Given the description of an element on the screen output the (x, y) to click on. 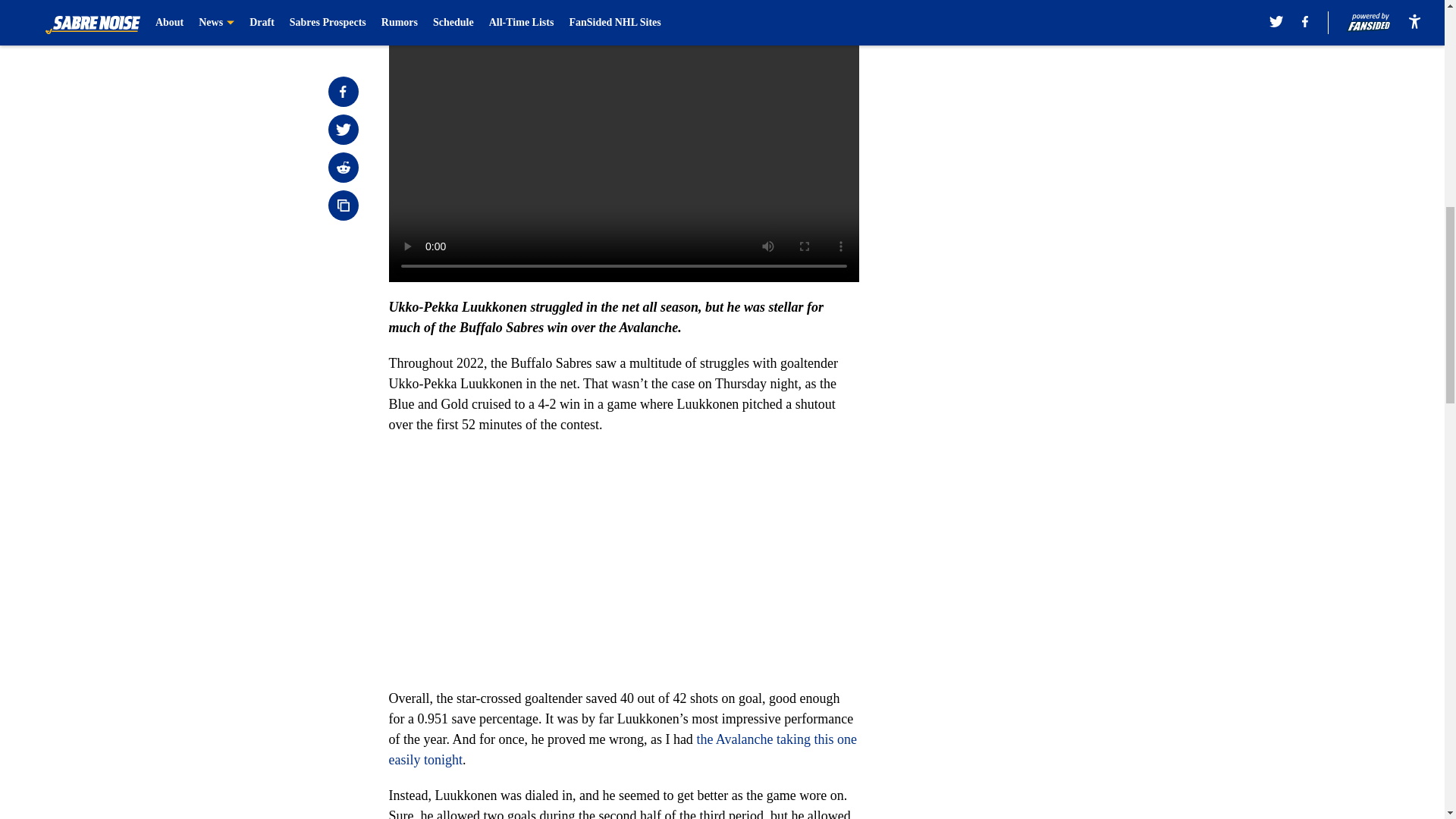
the Avalanche taking this one easily tonight (622, 749)
3rd party ad content (1047, 332)
3rd party ad content (1047, 113)
